Given the description of an element on the screen output the (x, y) to click on. 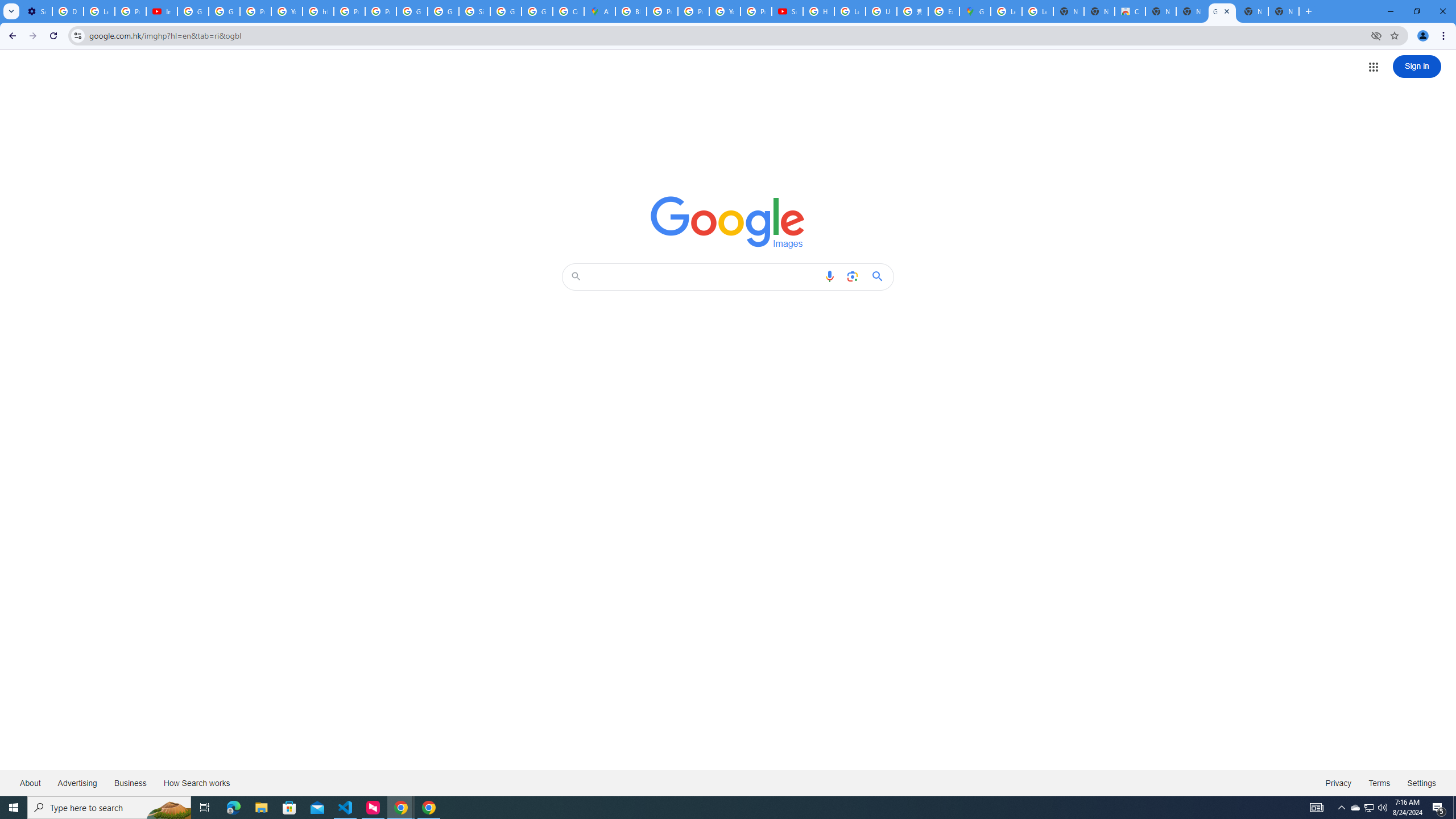
YouTube (724, 11)
How Search works (196, 782)
Privacy Help Center - Policies Help (662, 11)
Advertising (77, 782)
Google Images (727, 222)
Google Search (880, 276)
Business (129, 782)
